Given the description of an element on the screen output the (x, y) to click on. 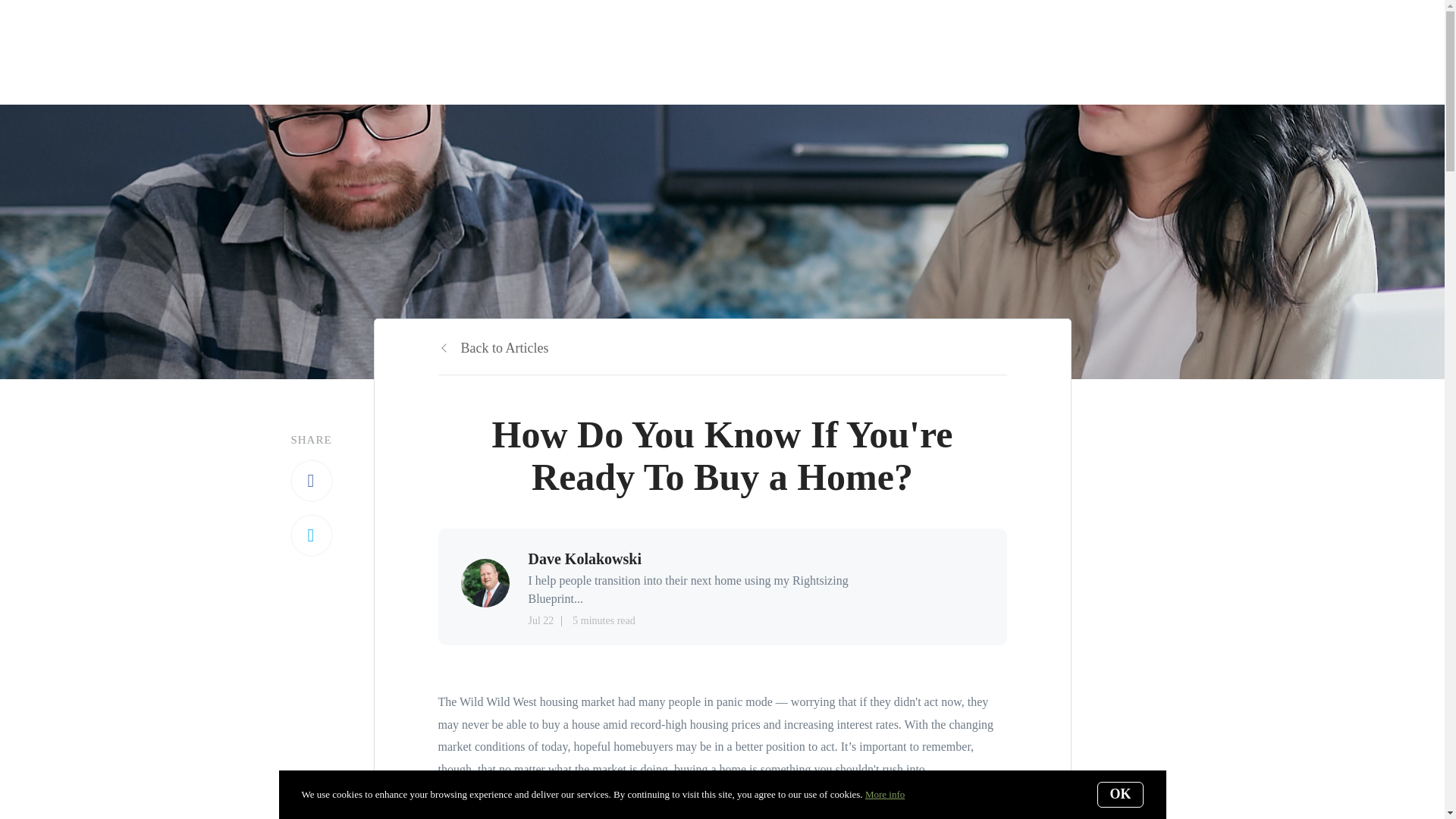
Back to Articles (493, 347)
